Given the description of an element on the screen output the (x, y) to click on. 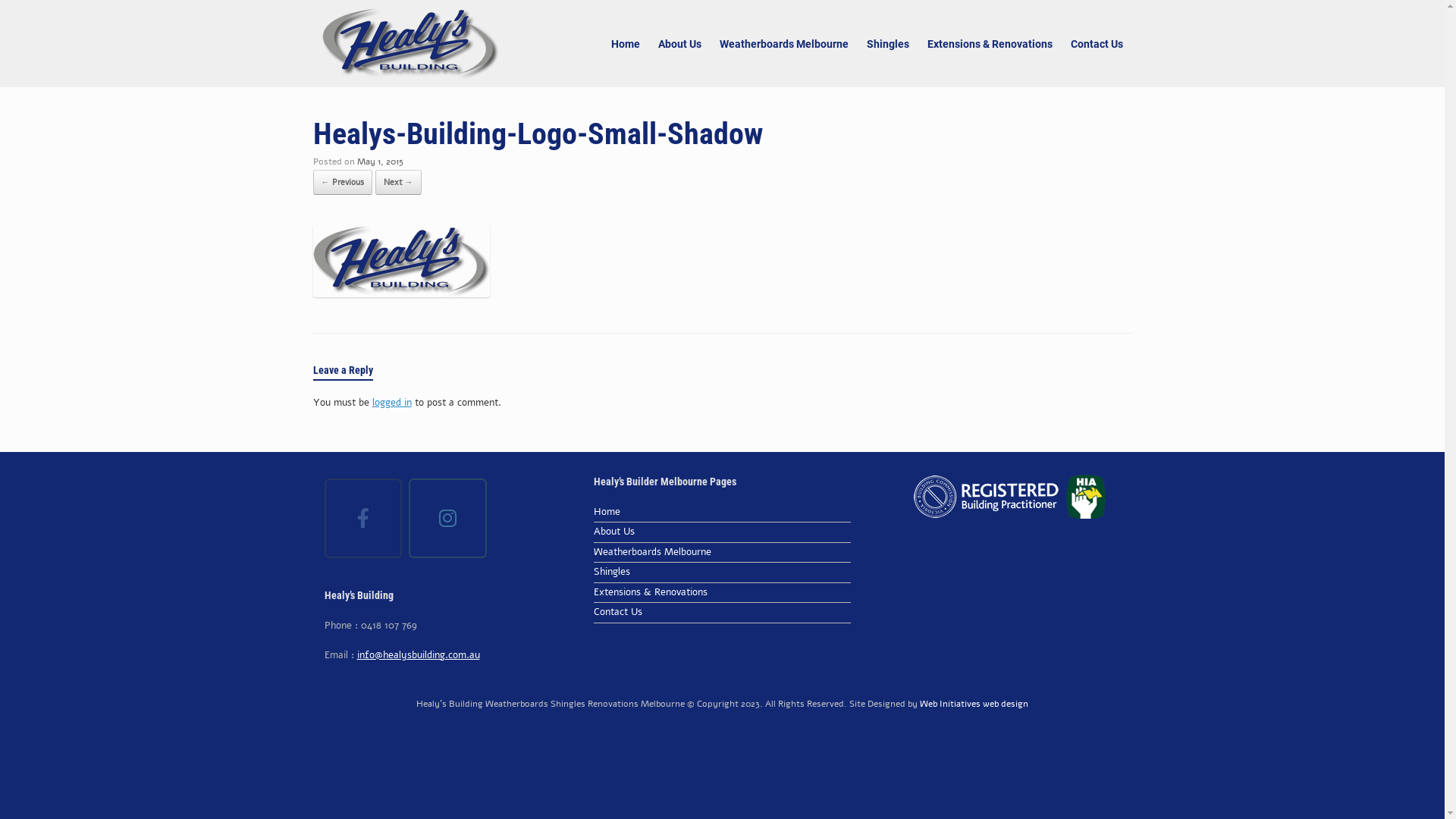
info@healysbuilding.com.au Element type: text (417, 655)
About Us Element type: text (722, 533)
Contact Us Element type: text (722, 614)
Contact Us Element type: text (1096, 42)
Healys-Building-Logo-Small-Shadow Element type: hover (400, 293)
logged in Element type: text (391, 402)
Web Initiatives web design Element type: text (973, 703)
Shingles Element type: text (886, 42)
Home Element type: text (722, 514)
Extensions & Renovations Element type: text (722, 594)
Weatherboards Melbourne Element type: text (722, 553)
May 1, 2015 Element type: text (379, 161)
Shingles Element type: text (722, 573)
Weatherboards Melbourne Element type: text (782, 42)
About Us Element type: text (679, 42)
Extensions & Renovations Element type: text (988, 42)
Home Element type: text (625, 42)
